Given the description of an element on the screen output the (x, y) to click on. 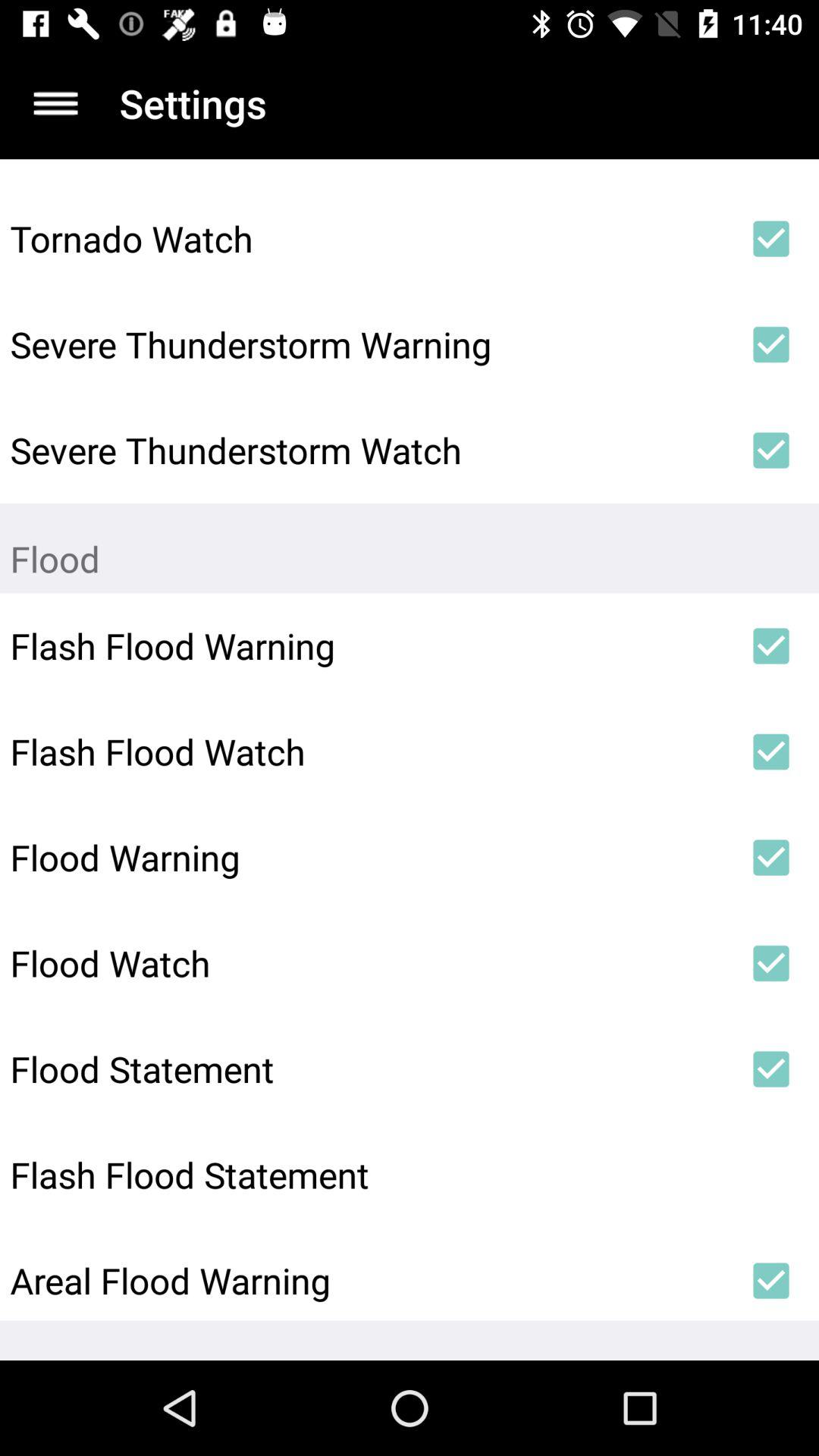
click item next to severe thunderstorm warning (771, 344)
